Given the description of an element on the screen output the (x, y) to click on. 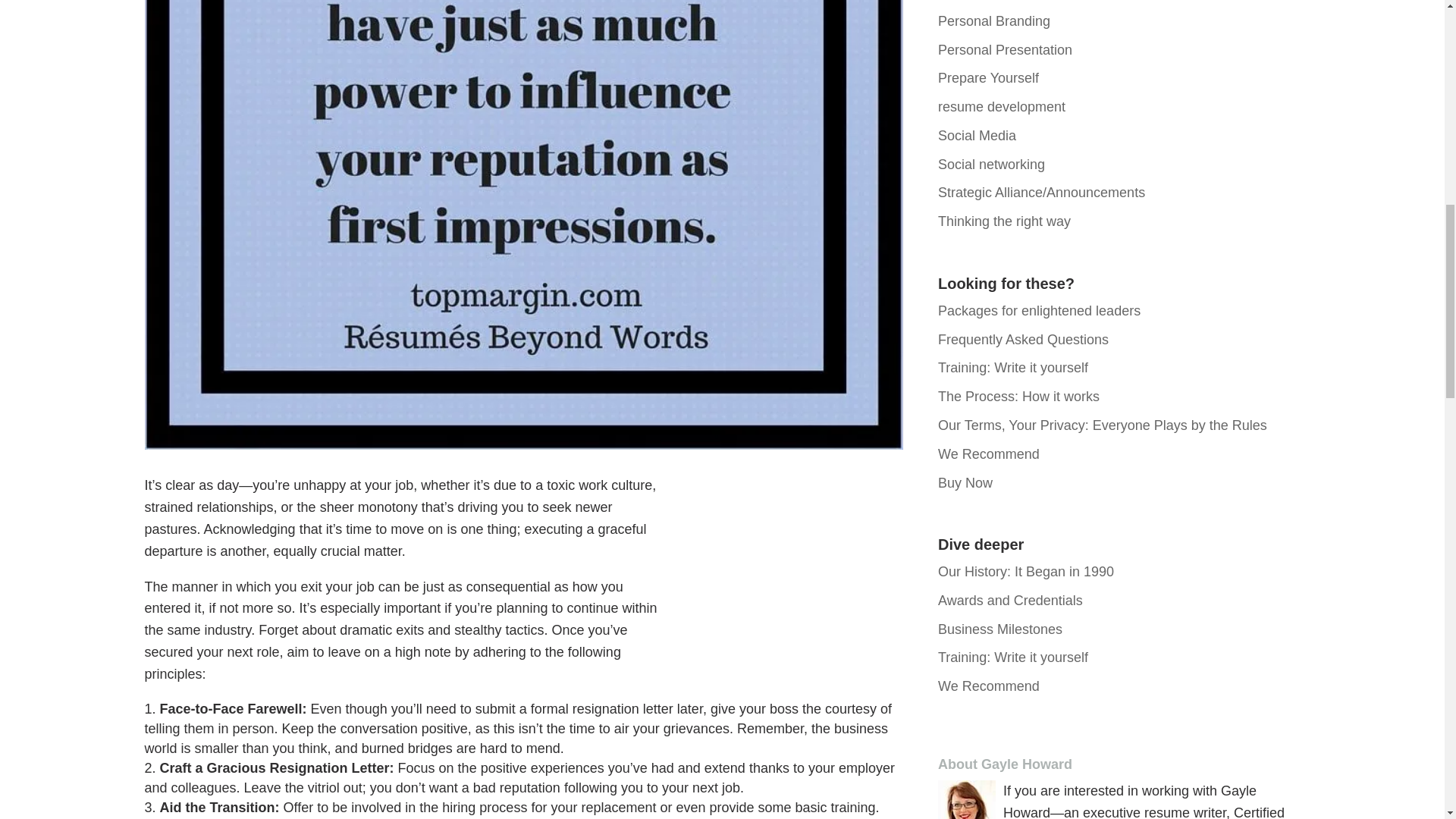
Frequently Asked Questions (1022, 339)
Prepare Yourself (988, 77)
Social Media (976, 135)
Social networking (991, 164)
Training: Write it yourself (1012, 367)
Personal Branding (993, 20)
The Process: How it works (1018, 396)
resume development (1001, 106)
Packages for enlightened leaders (1038, 310)
